Given the description of an element on the screen output the (x, y) to click on. 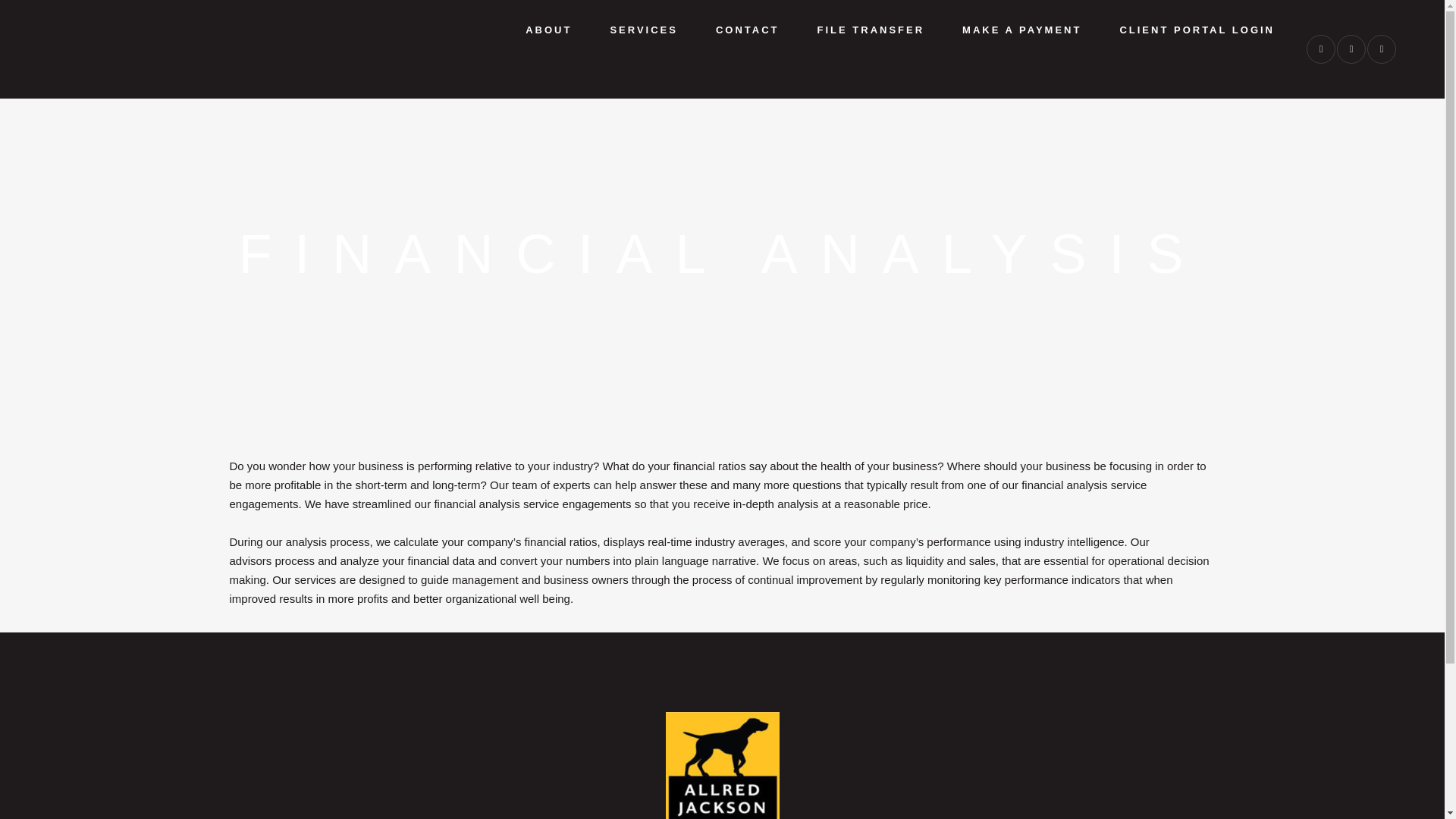
ABOUT (548, 30)
SERVICES (644, 30)
MAKE A PAYMENT (1021, 30)
CONTACT (747, 30)
FILE TRANSFER (870, 30)
CLIENT PORTAL LOGIN (1197, 30)
